Given the description of an element on the screen output the (x, y) to click on. 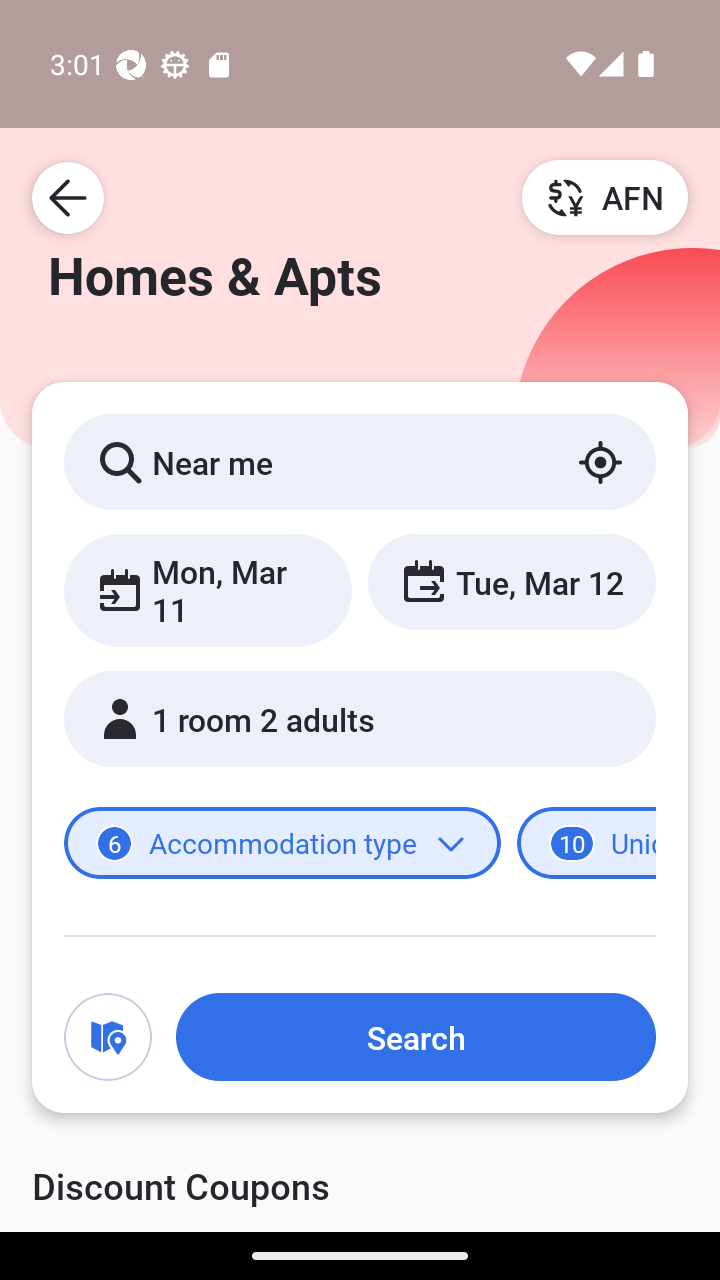
AFN (605, 197)
Near me (359, 461)
Mon, Mar 11 (208, 589)
Tue, Mar 12 (511, 581)
1 room 2 adults (359, 718)
6 Accommodation type (282, 842)
Search (415, 1037)
